Given the description of an element on the screen output the (x, y) to click on. 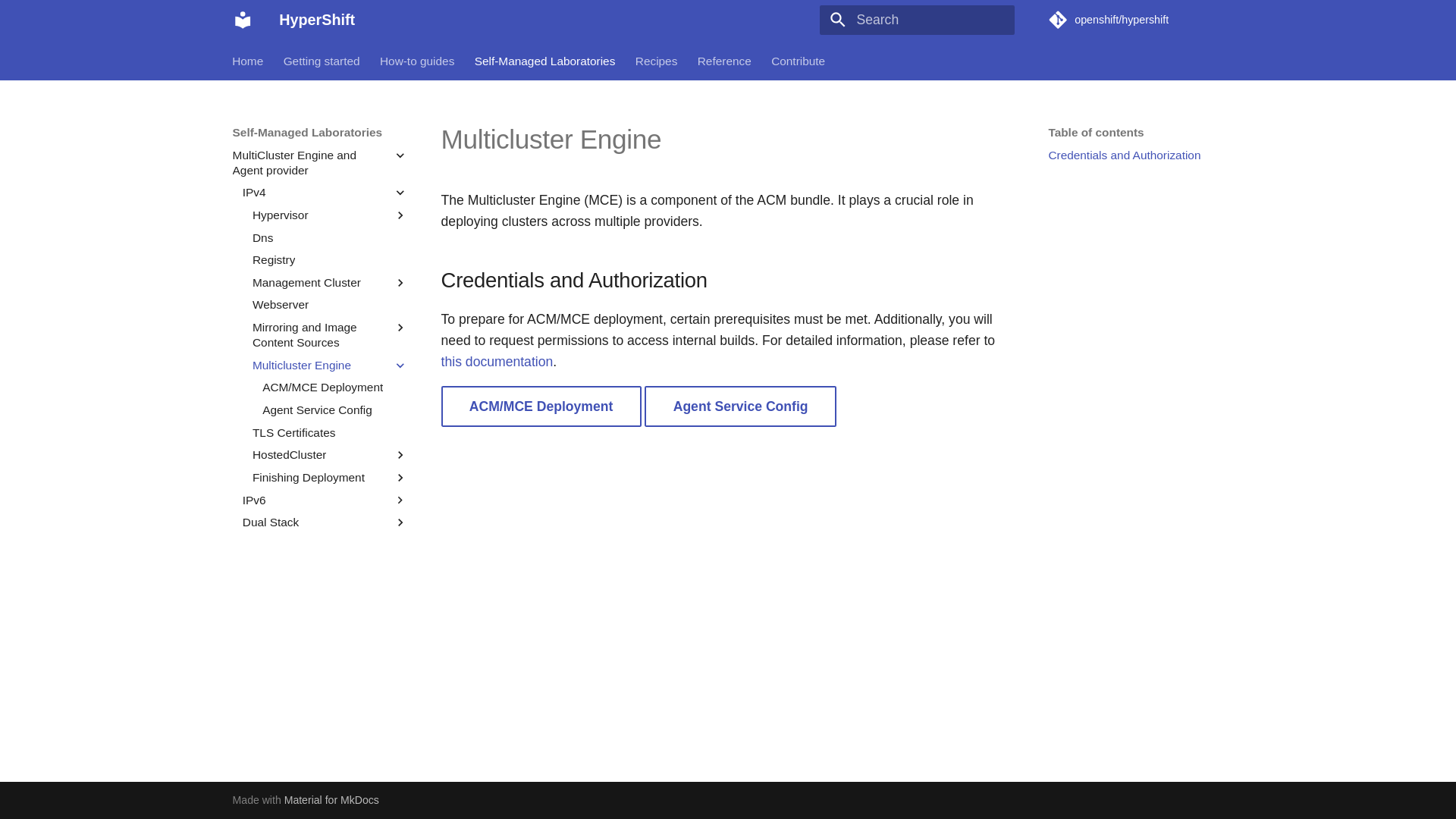
HyperShift (242, 19)
Contribute (798, 60)
Reference (724, 60)
How-to guides (417, 60)
Home (247, 60)
Getting started (321, 60)
Go to repository (1135, 20)
Self-Managed Laboratories (544, 60)
Recipes (656, 60)
